Given the description of an element on the screen output the (x, y) to click on. 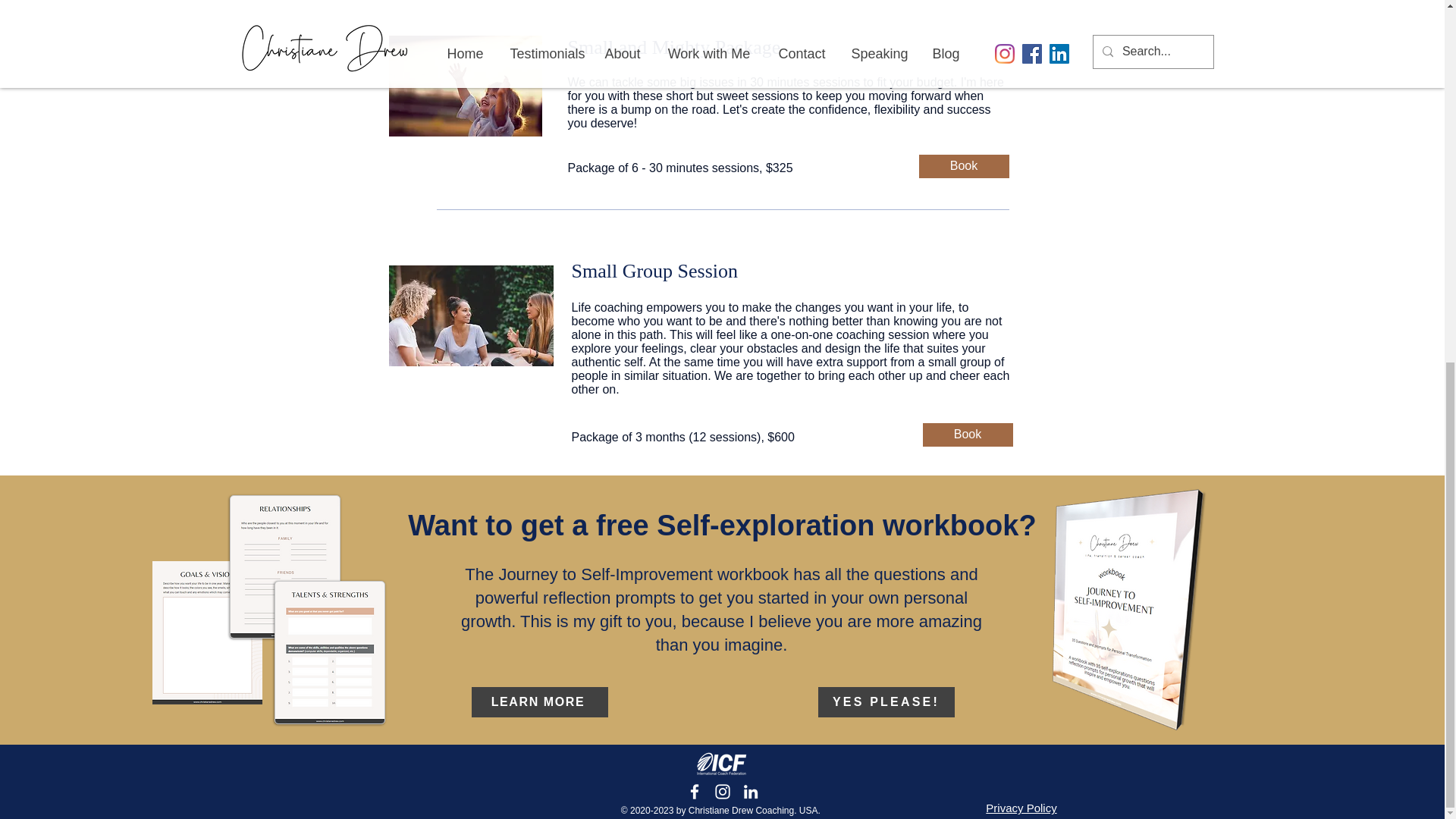
LEARN MORE (539, 702)
YES PLEASE! (884, 702)
Book (966, 434)
Book (963, 166)
Privacy Policy (1021, 807)
